Given the description of an element on the screen output the (x, y) to click on. 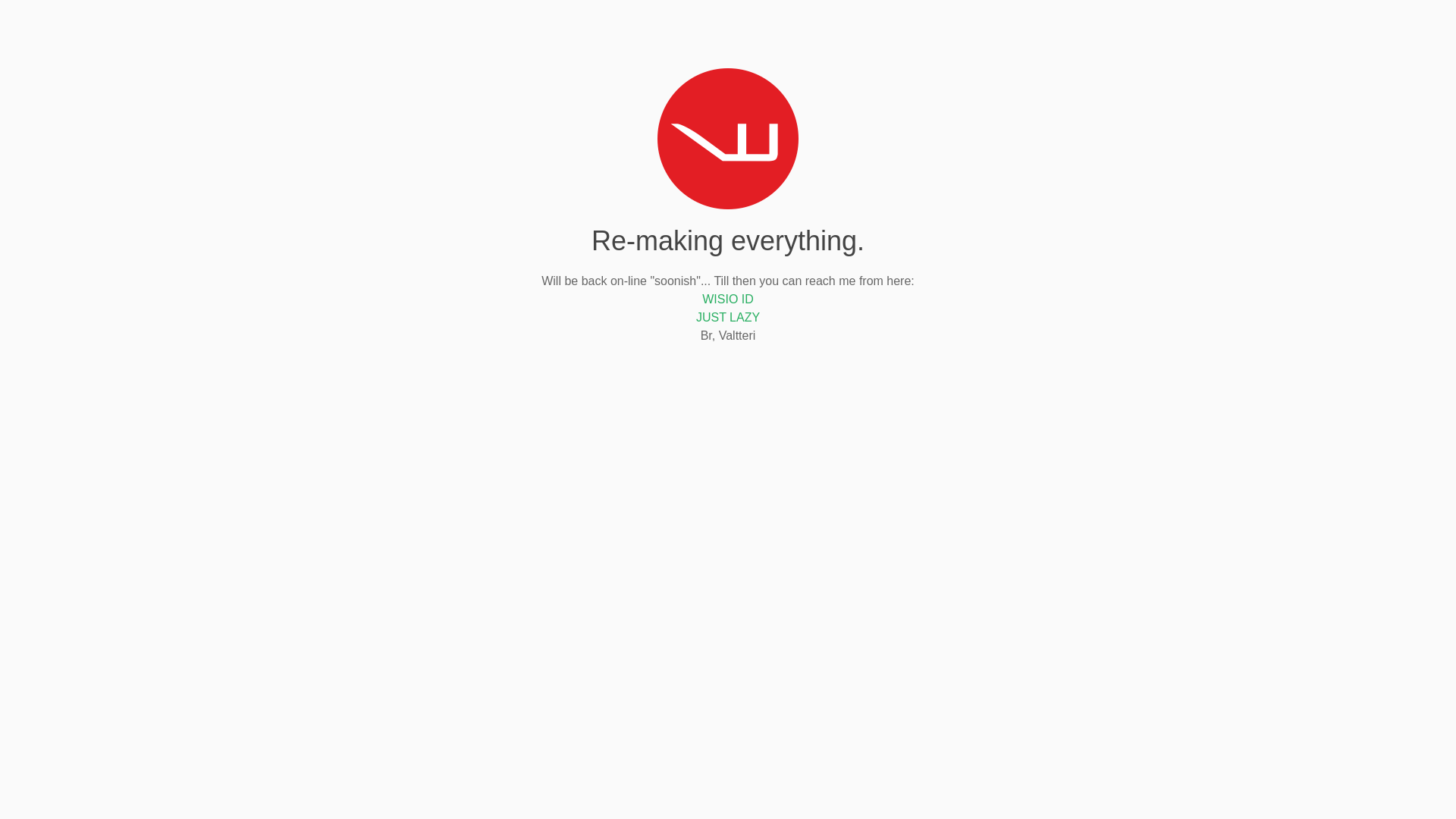
JUST LAZY Element type: text (727, 316)
WISIO ID Element type: text (727, 298)
